Given the description of an element on the screen output the (x, y) to click on. 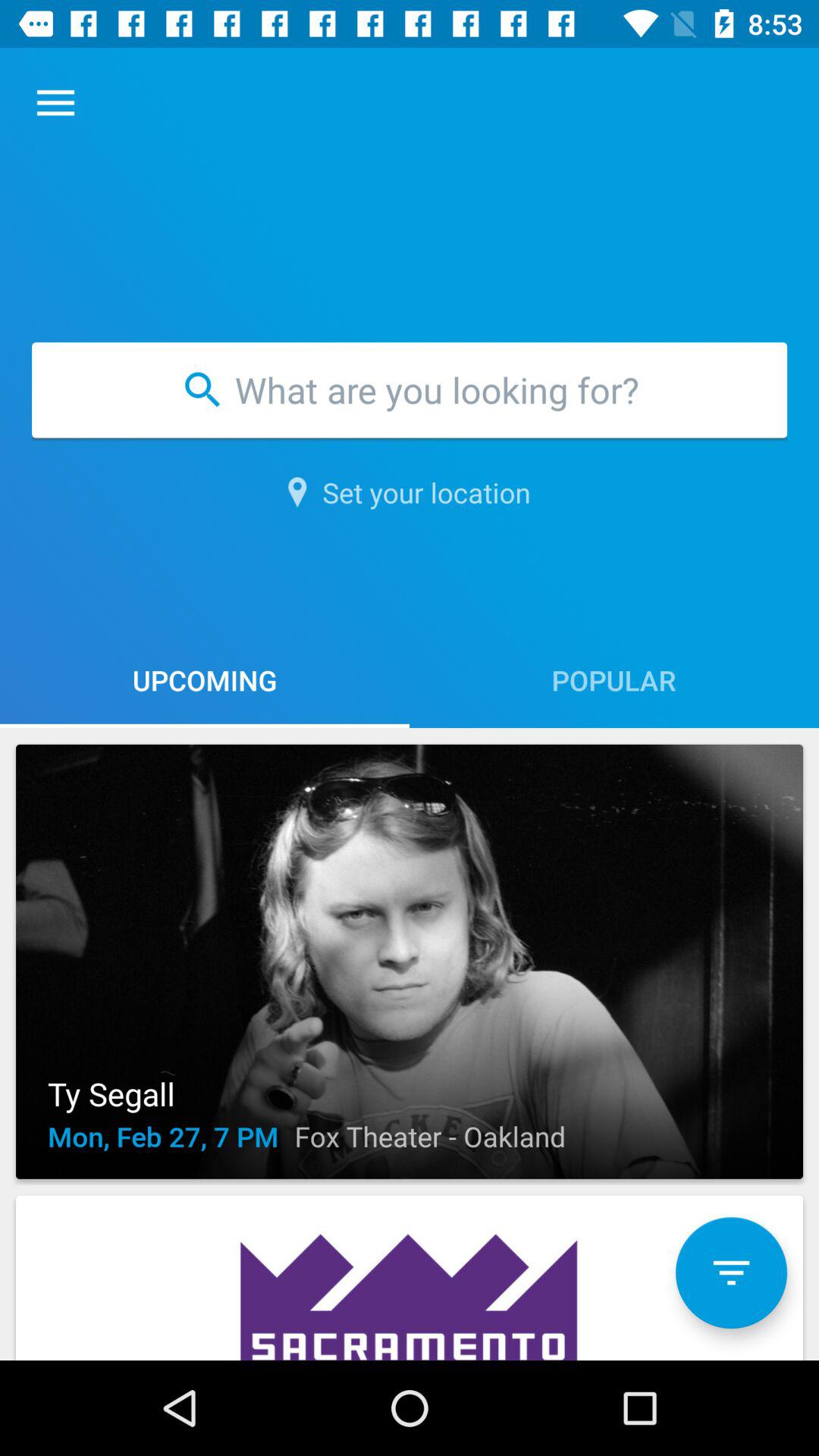
select icon at the top left corner (55, 103)
